Given the description of an element on the screen output the (x, y) to click on. 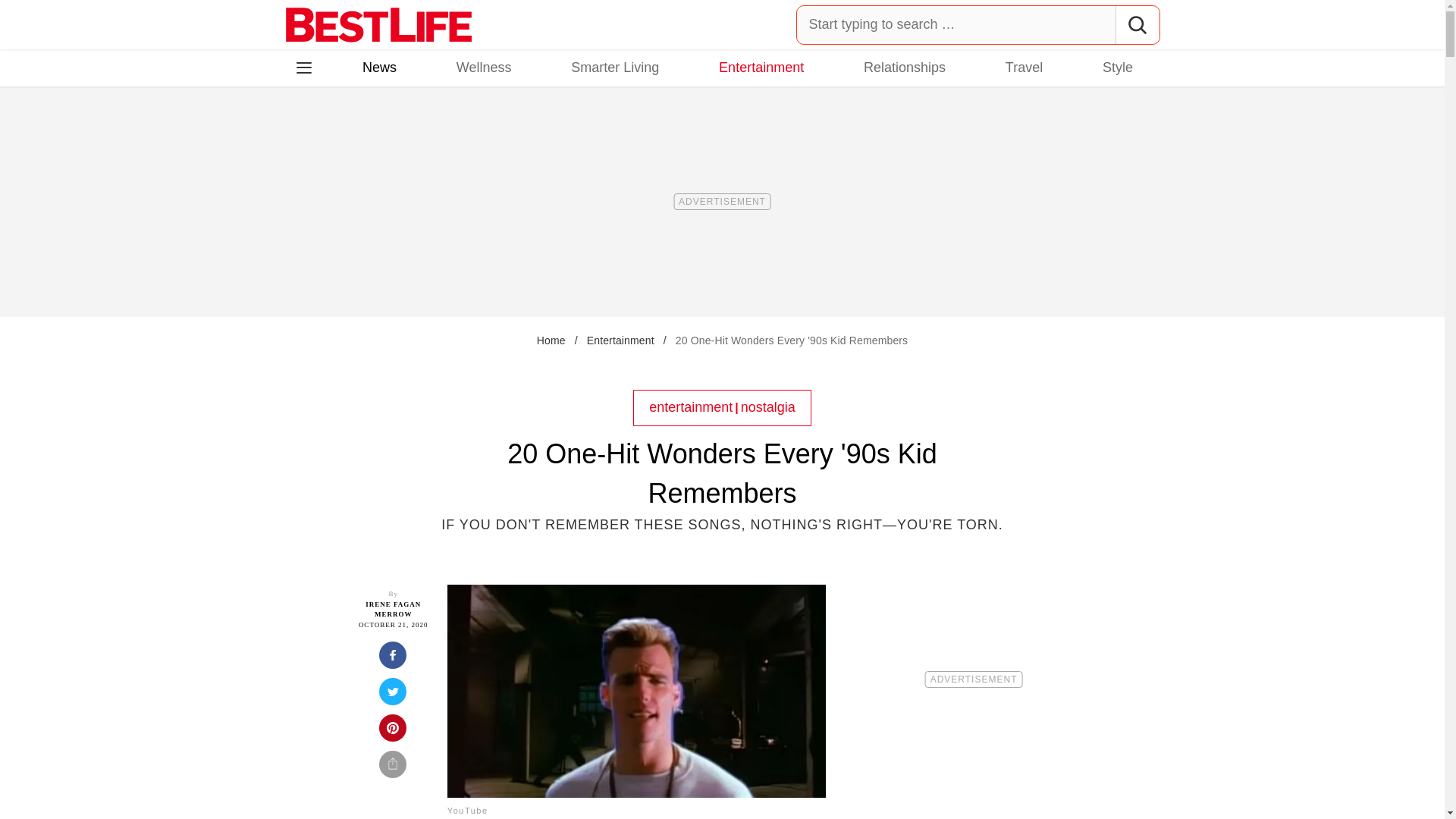
Share on Facebook (392, 659)
Travel (1023, 66)
Share via email (392, 769)
nostalgia (767, 406)
Share on Twitter (392, 696)
Entertainment (619, 340)
News (379, 66)
Entertainment (761, 66)
Relationships (904, 66)
Facebook (314, 133)
Wellness (483, 66)
Smarter Living (614, 66)
Instagram (357, 133)
Style (1117, 66)
Facebook (314, 133)
